Given the description of an element on the screen output the (x, y) to click on. 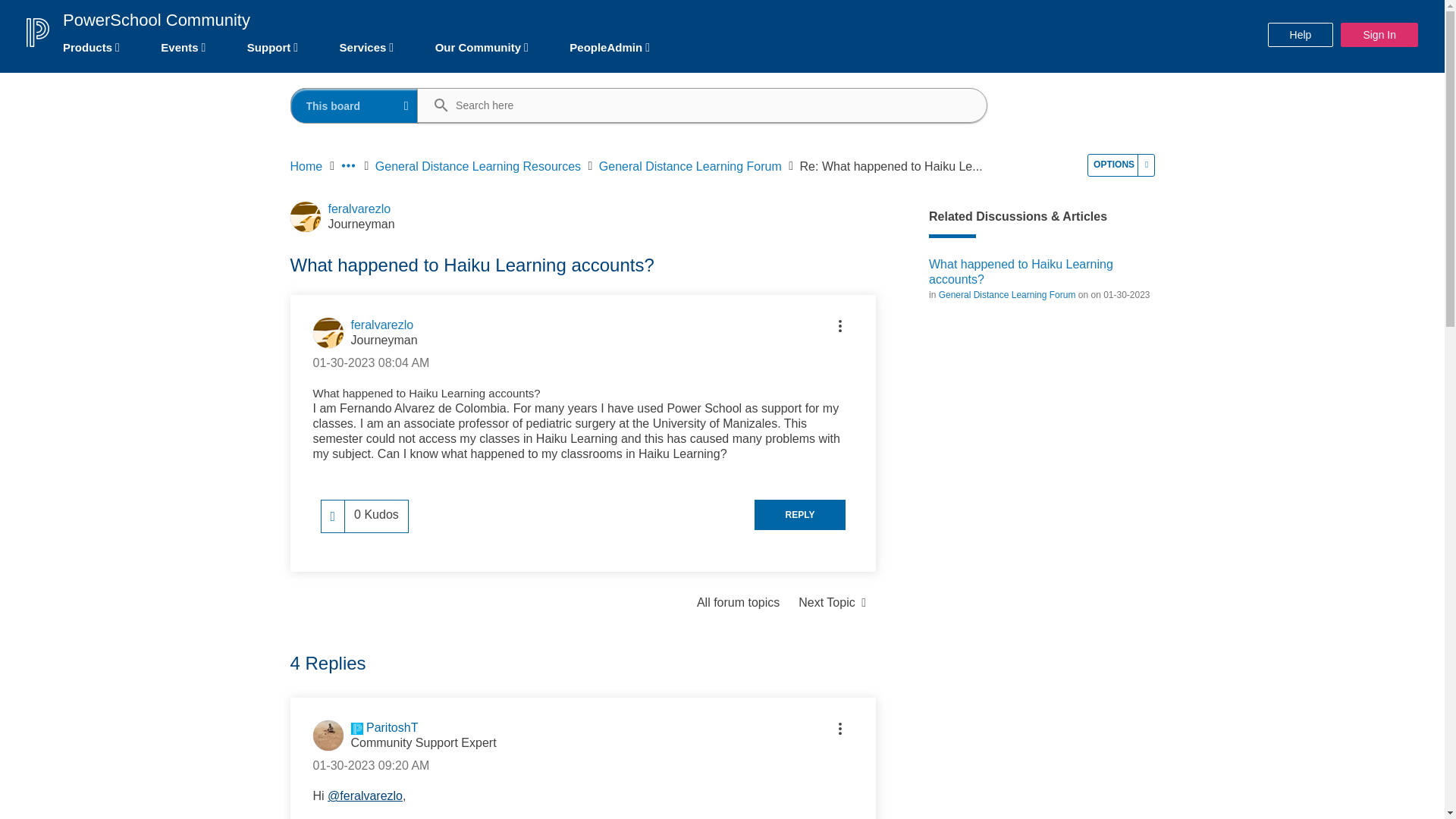
feralvarezlo (304, 216)
Search (433, 106)
Search Granularity (354, 105)
Posted on (371, 363)
feralvarezlo (327, 332)
Show option menu (840, 325)
Show option menu (1120, 164)
Search (433, 106)
Search (695, 104)
